Given the description of an element on the screen output the (x, y) to click on. 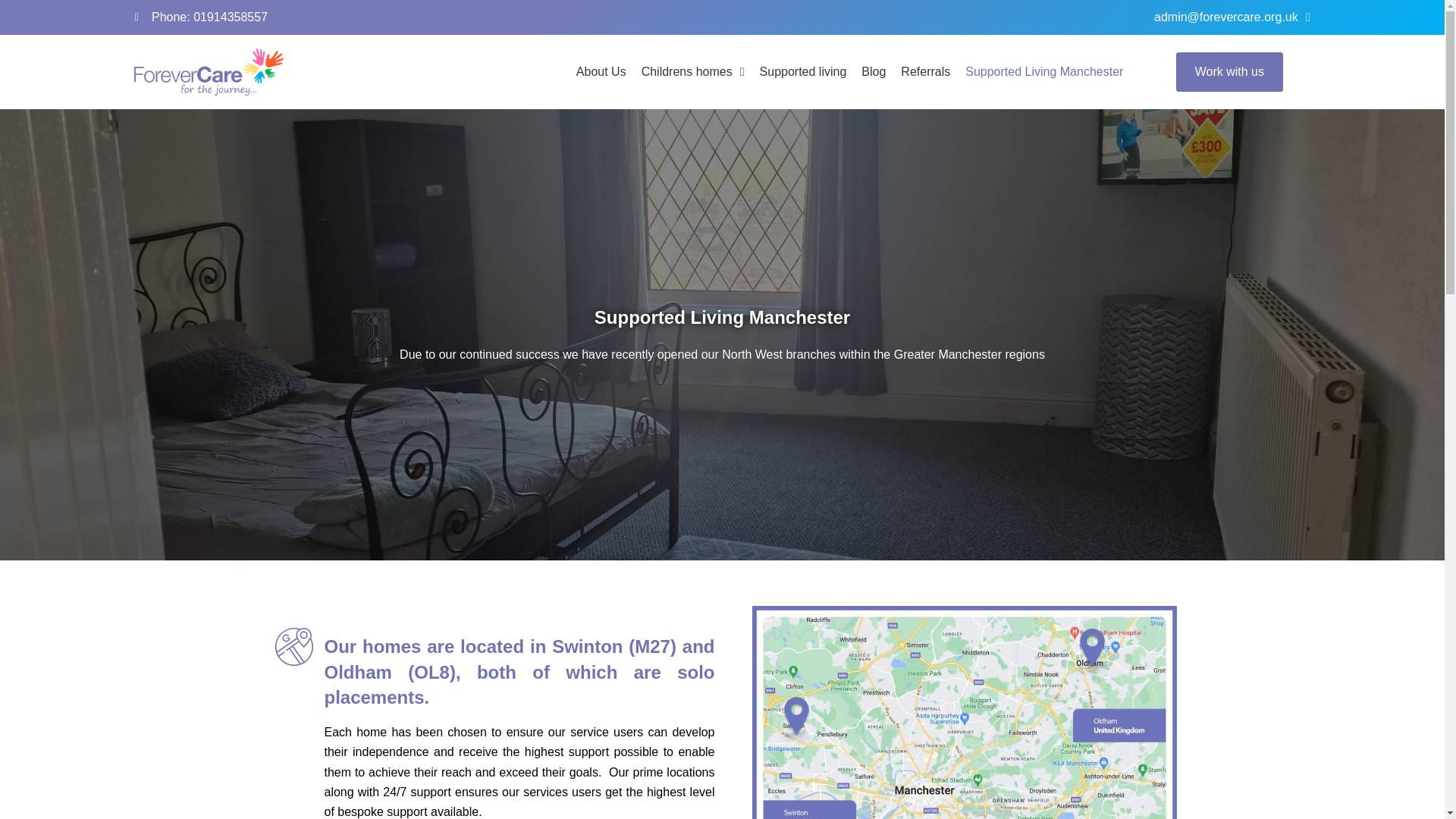
Childrens homes (692, 71)
Supported living (803, 71)
Referrals (925, 71)
Phone: 01914358557 (424, 17)
Supported Living Manchester (1044, 71)
Work with us (1229, 71)
About Us (601, 71)
Blog (873, 71)
